Given the description of an element on the screen output the (x, y) to click on. 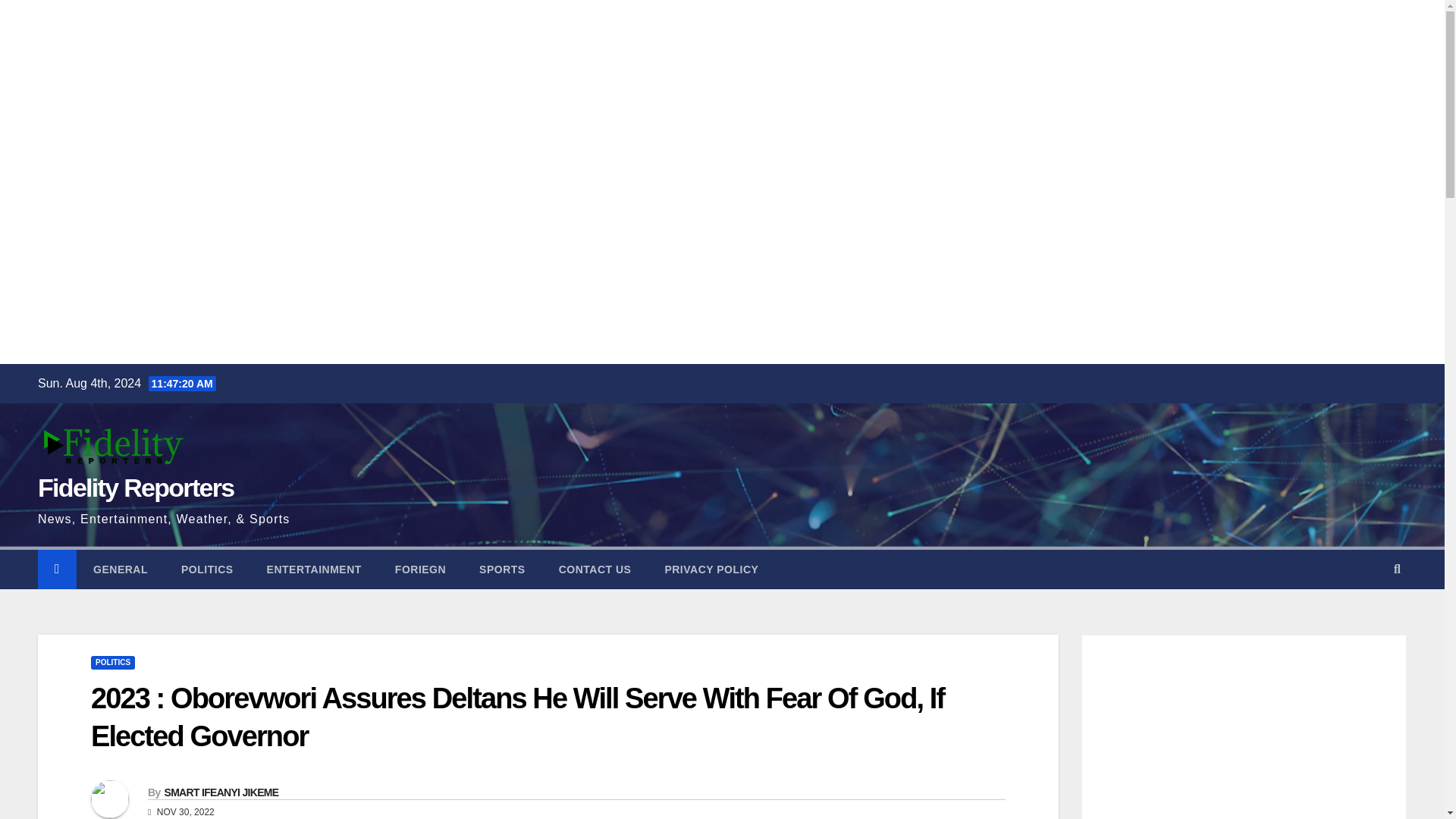
Fidelity Reporters (134, 487)
Sports (502, 568)
SMART IFEANYI JIKEME (220, 792)
Politics (207, 568)
CONTACT US (594, 568)
POLITICS (112, 662)
SPORTS (502, 568)
Foriegn (420, 568)
GENERAL (120, 568)
General (120, 568)
POLITICS (207, 568)
FORIEGN (420, 568)
Contact Us (594, 568)
